Given the description of an element on the screen output the (x, y) to click on. 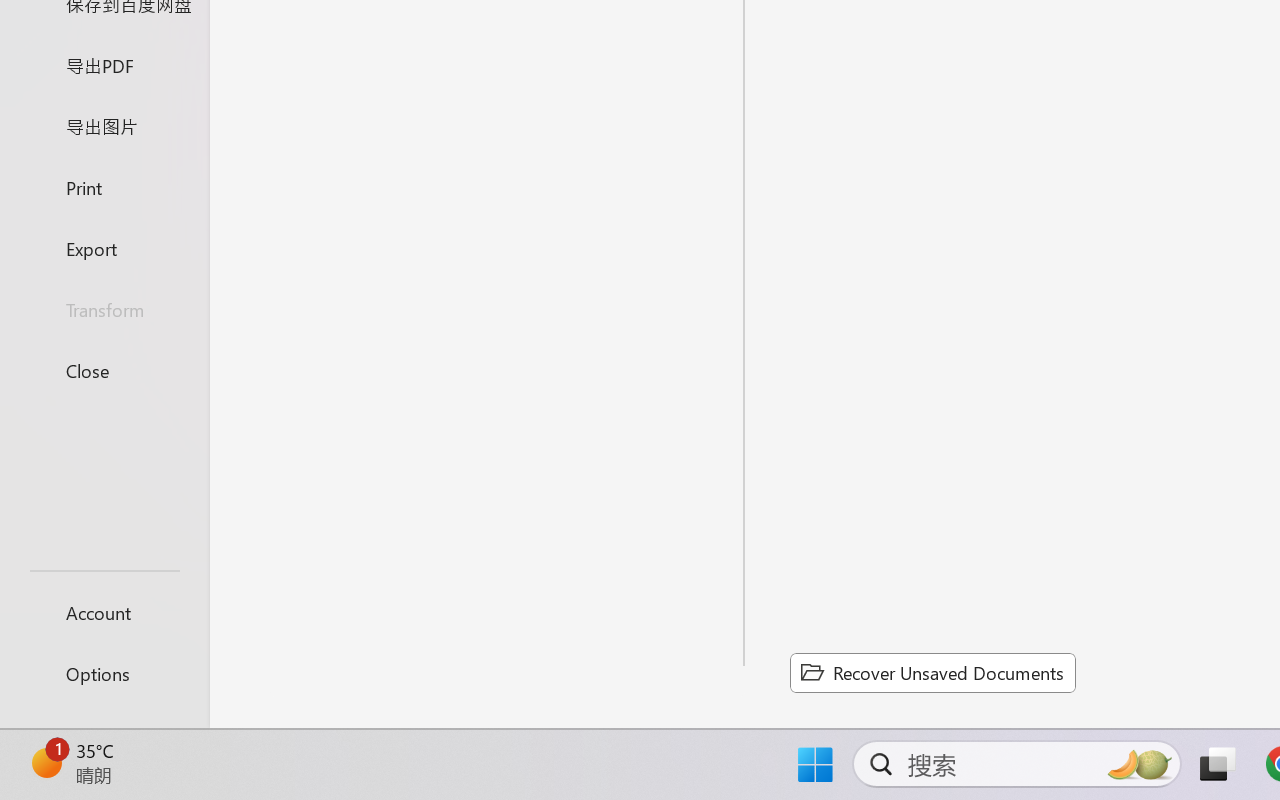
Options (104, 673)
Recover Unsaved Documents (932, 672)
Export (104, 248)
Print (104, 186)
Account (104, 612)
Transform (104, 309)
